Given the description of an element on the screen output the (x, y) to click on. 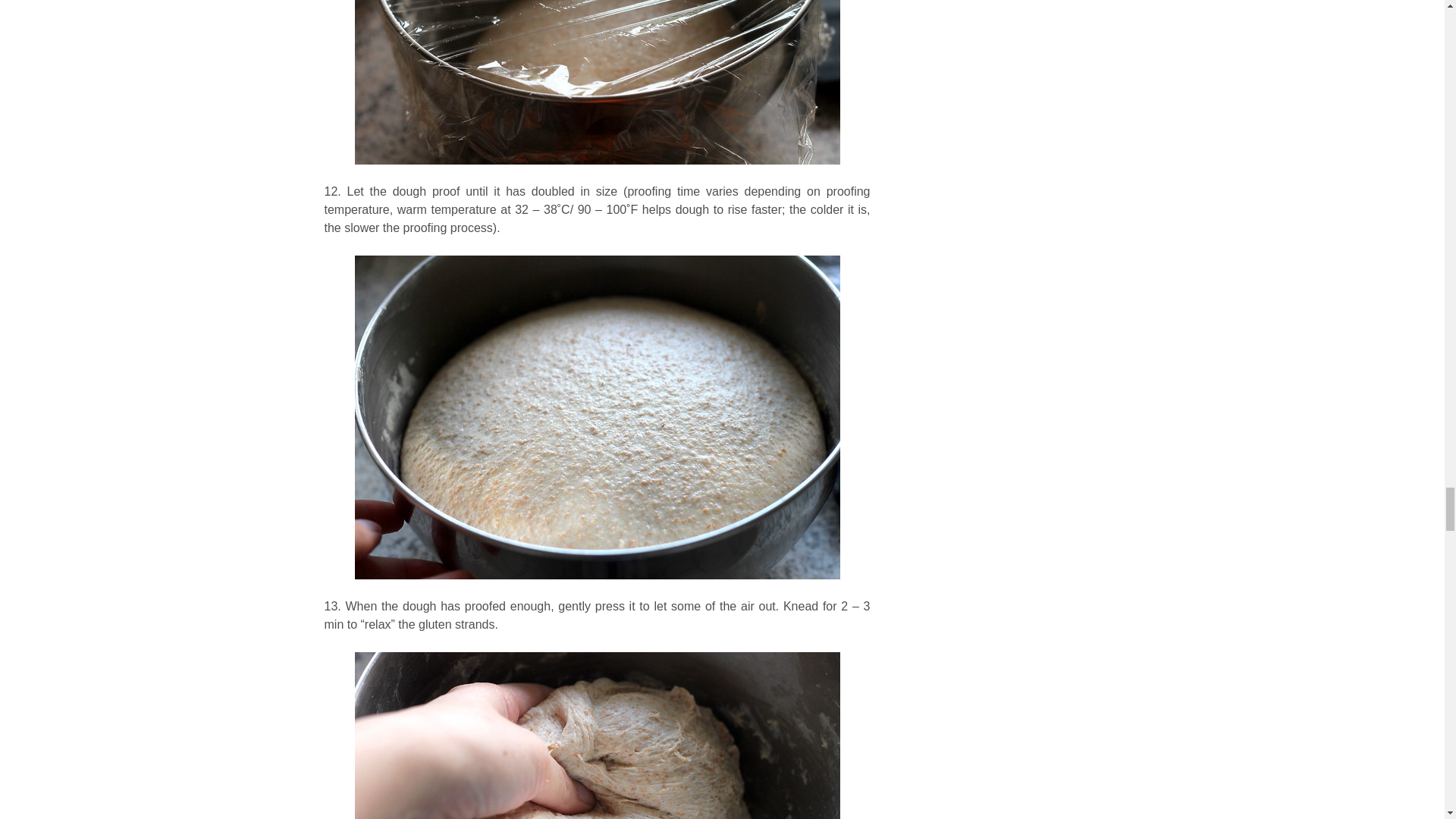
 rose cake 3 by LinhTrang9185, on Flickr (597, 99)
 rose cake 3 by LinhTrang9185, on Flickr (597, 735)
